Given the description of an element on the screen output the (x, y) to click on. 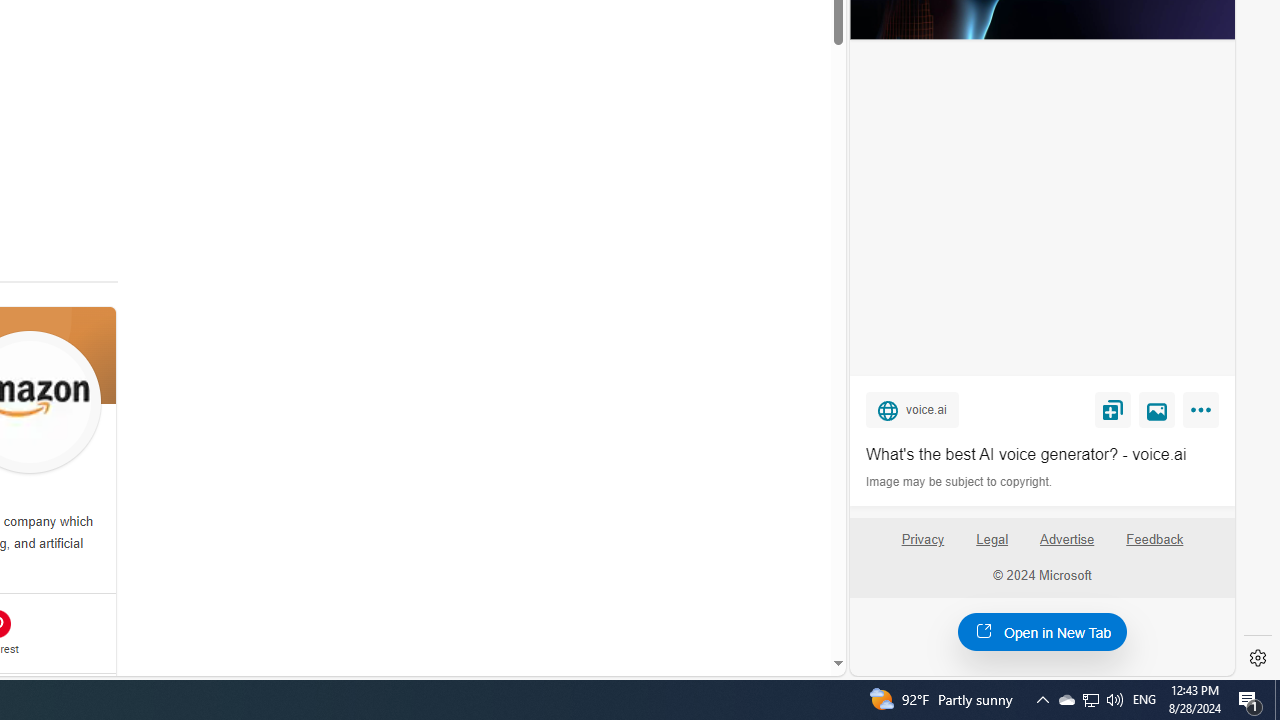
Open in New Tab (1042, 631)
Privacy (922, 547)
View image (1157, 409)
